Given the description of an element on the screen output the (x, y) to click on. 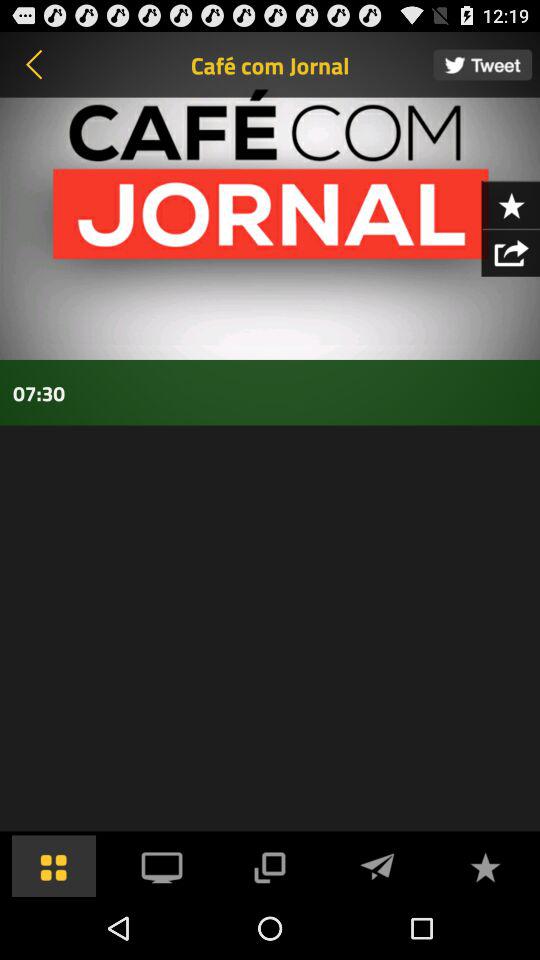
bookmarking logo (510, 204)
